Given the description of an element on the screen output the (x, y) to click on. 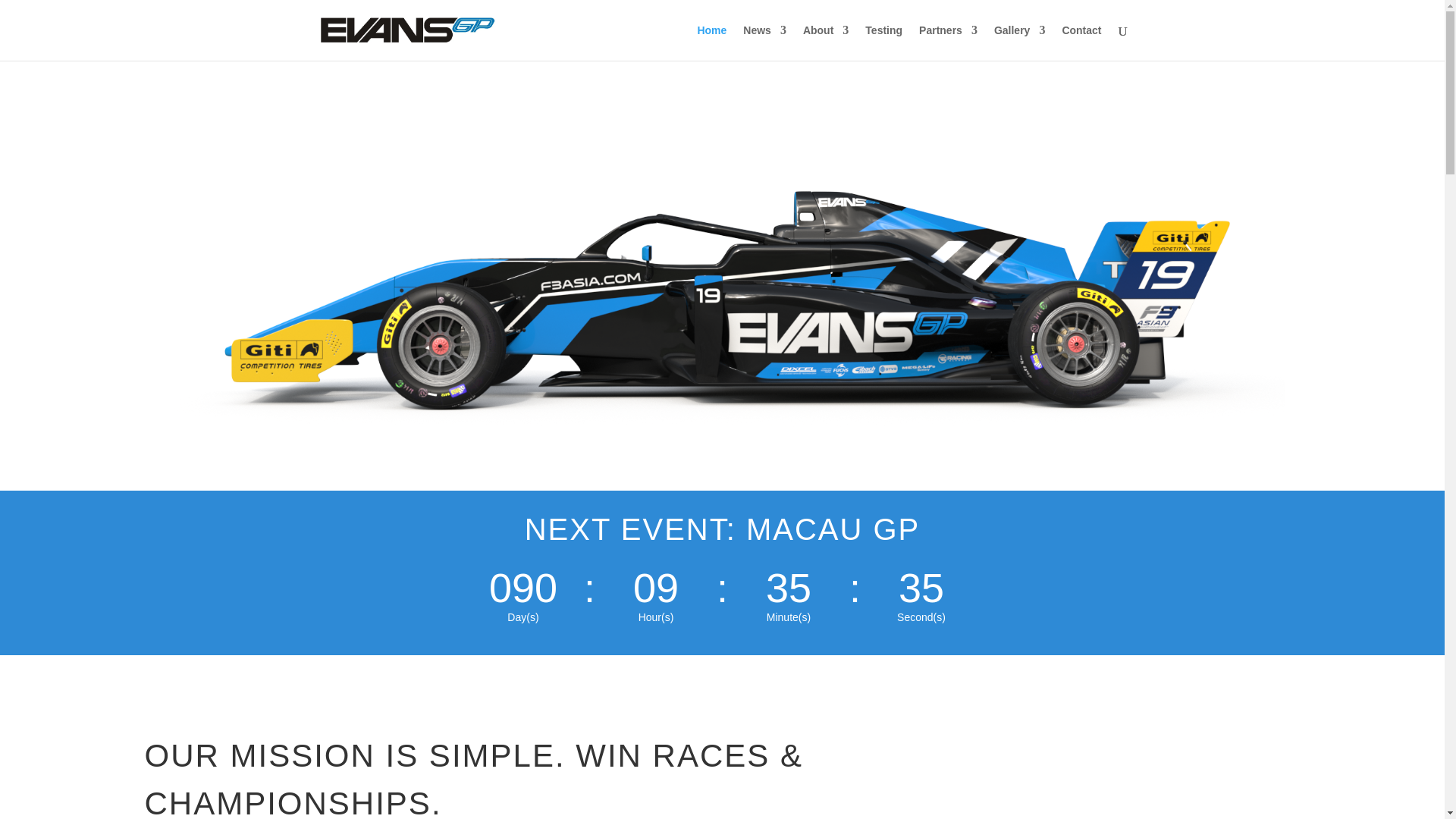
About (825, 42)
Partners (947, 42)
Gallery (1019, 42)
News (764, 42)
Contact (1080, 42)
Testing (883, 42)
